Given the description of an element on the screen output the (x, y) to click on. 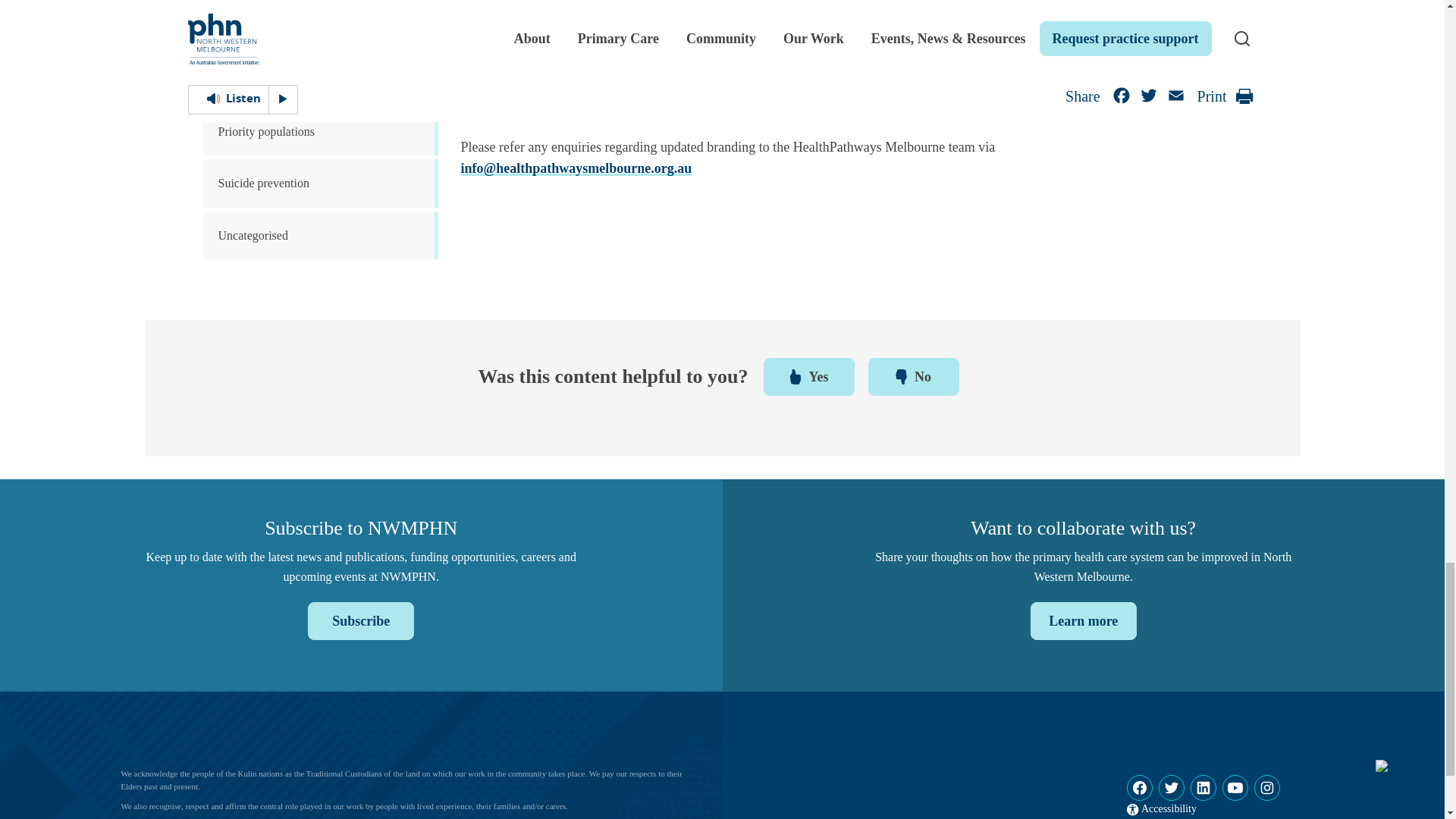
Follow NWMPHN Instagram (1266, 787)
Visit NWMPHN Youtube channel (1235, 787)
Follow NWMPHN on Twitter (1171, 787)
Visit NWMPHN Facebook page (1139, 787)
Visit NWMPHN Linkedin page (1203, 787)
Accessibility page (1161, 808)
